Given the description of an element on the screen output the (x, y) to click on. 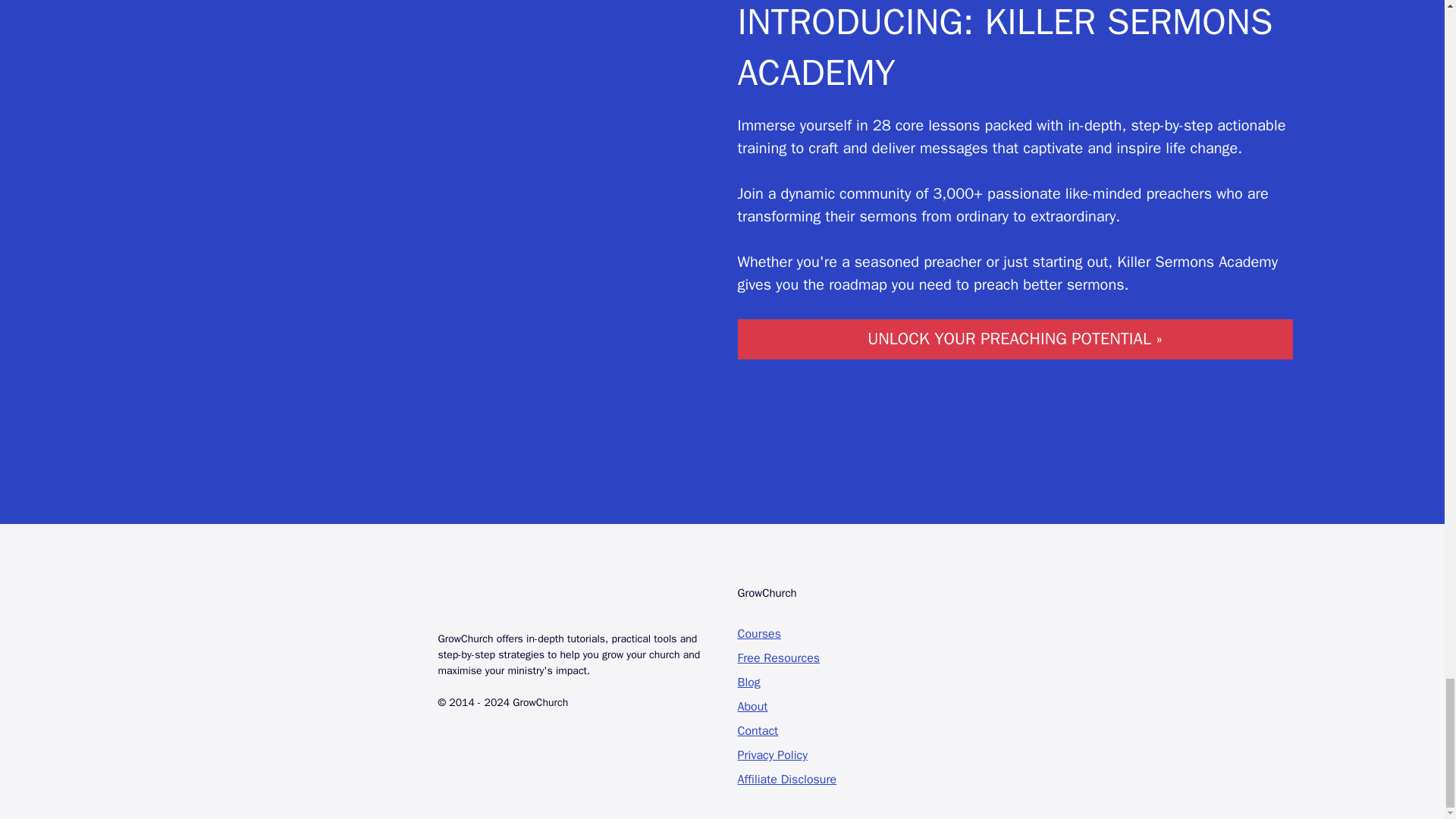
Blog (748, 682)
Affiliate Disclosure (785, 779)
Privacy Policy (771, 754)
Contact (756, 730)
Courses (758, 633)
Free Resources (777, 657)
About (751, 706)
